Given the description of an element on the screen output the (x, y) to click on. 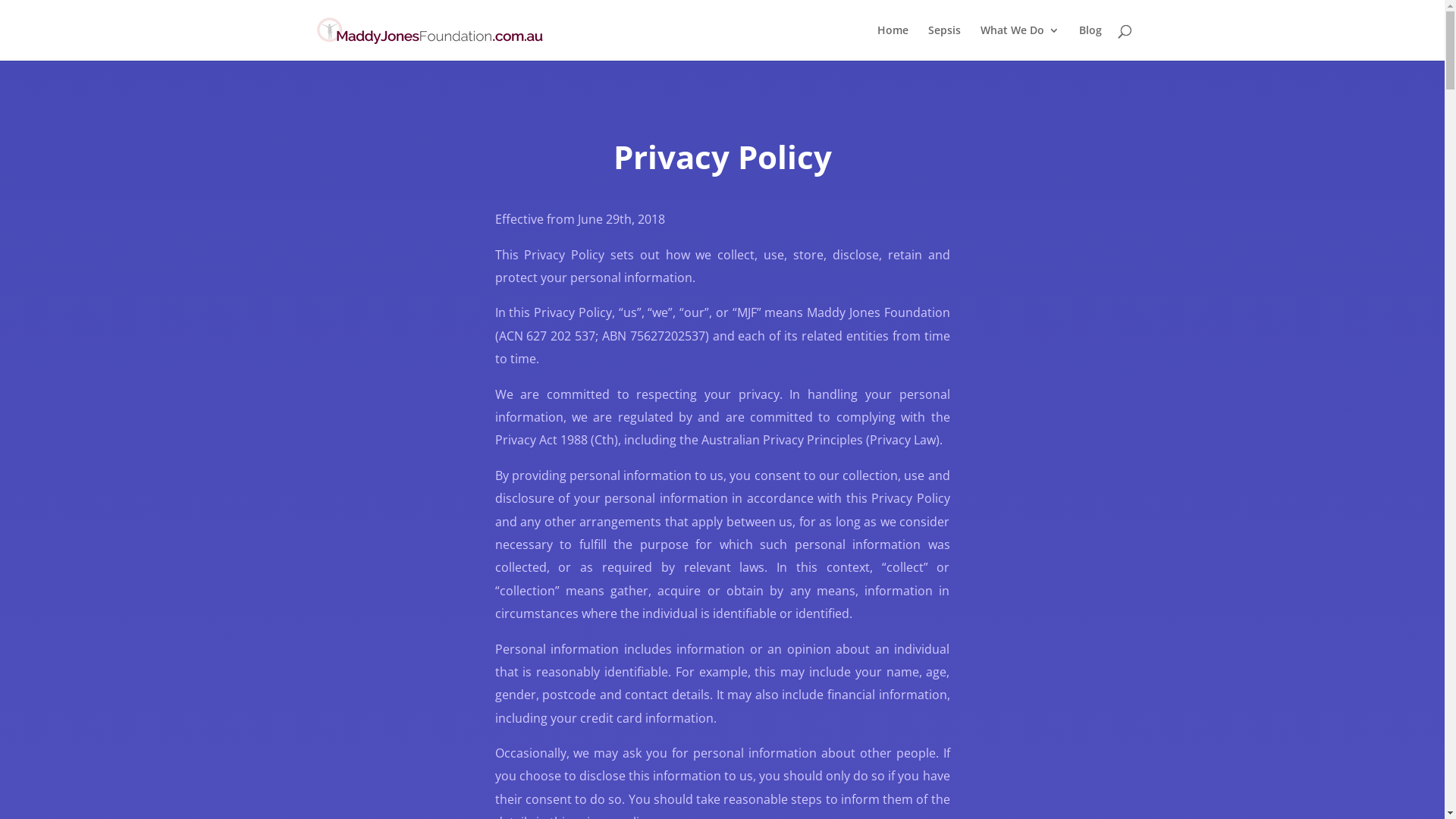
What We Do Element type: text (1018, 42)
Home Element type: text (891, 42)
Sepsis Element type: text (944, 42)
Blog Element type: text (1089, 42)
